Given the description of an element on the screen output the (x, y) to click on. 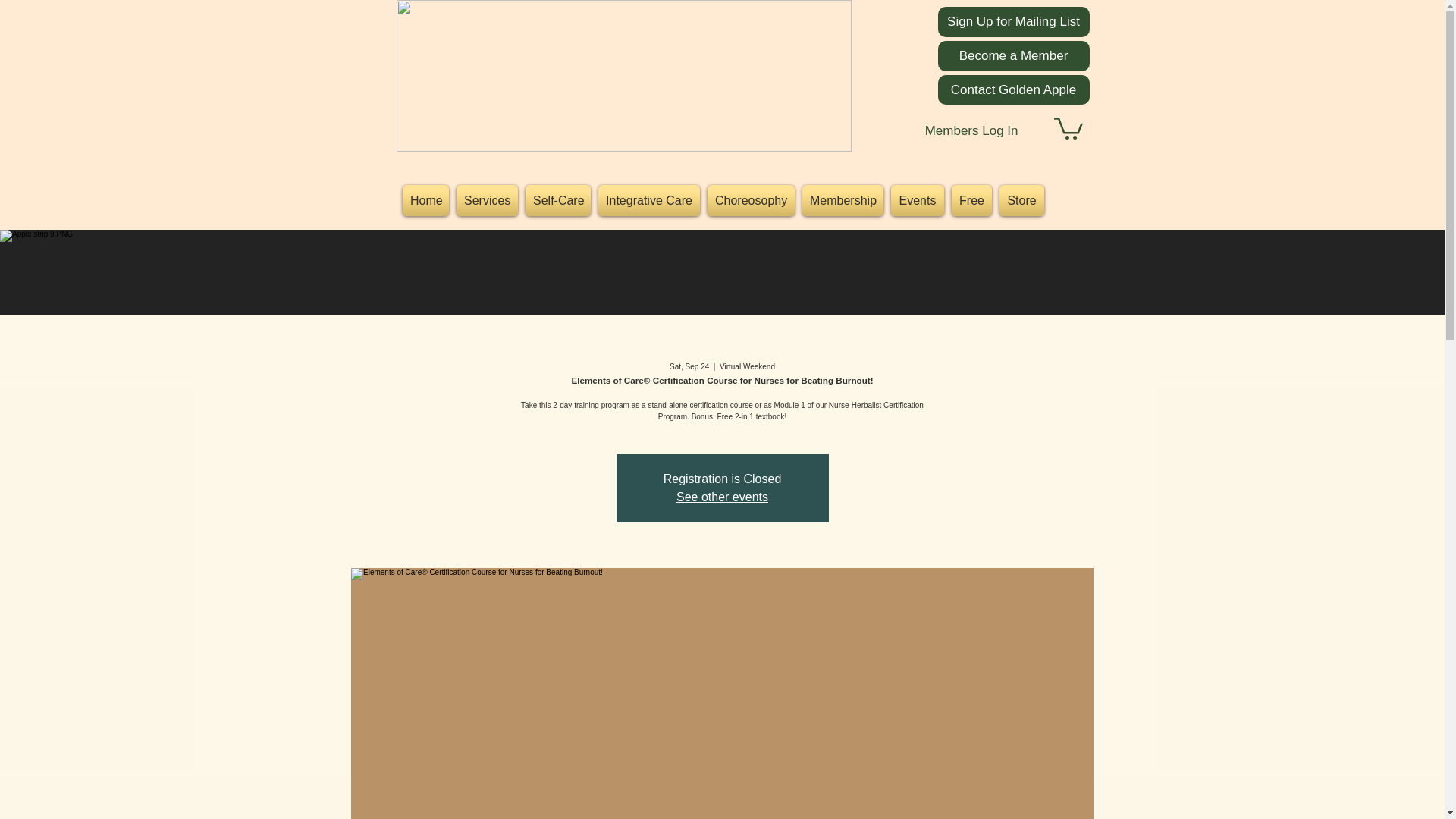
Become a Member (1013, 55)
Sign Up for Mailing List (1013, 21)
Events (916, 200)
Members Log In (971, 130)
Services (486, 200)
Contact Golden Apple (1013, 89)
Self-Care (557, 200)
Choreosophy (750, 200)
Membership (841, 200)
Integrative Care (648, 200)
